Given the description of an element on the screen output the (x, y) to click on. 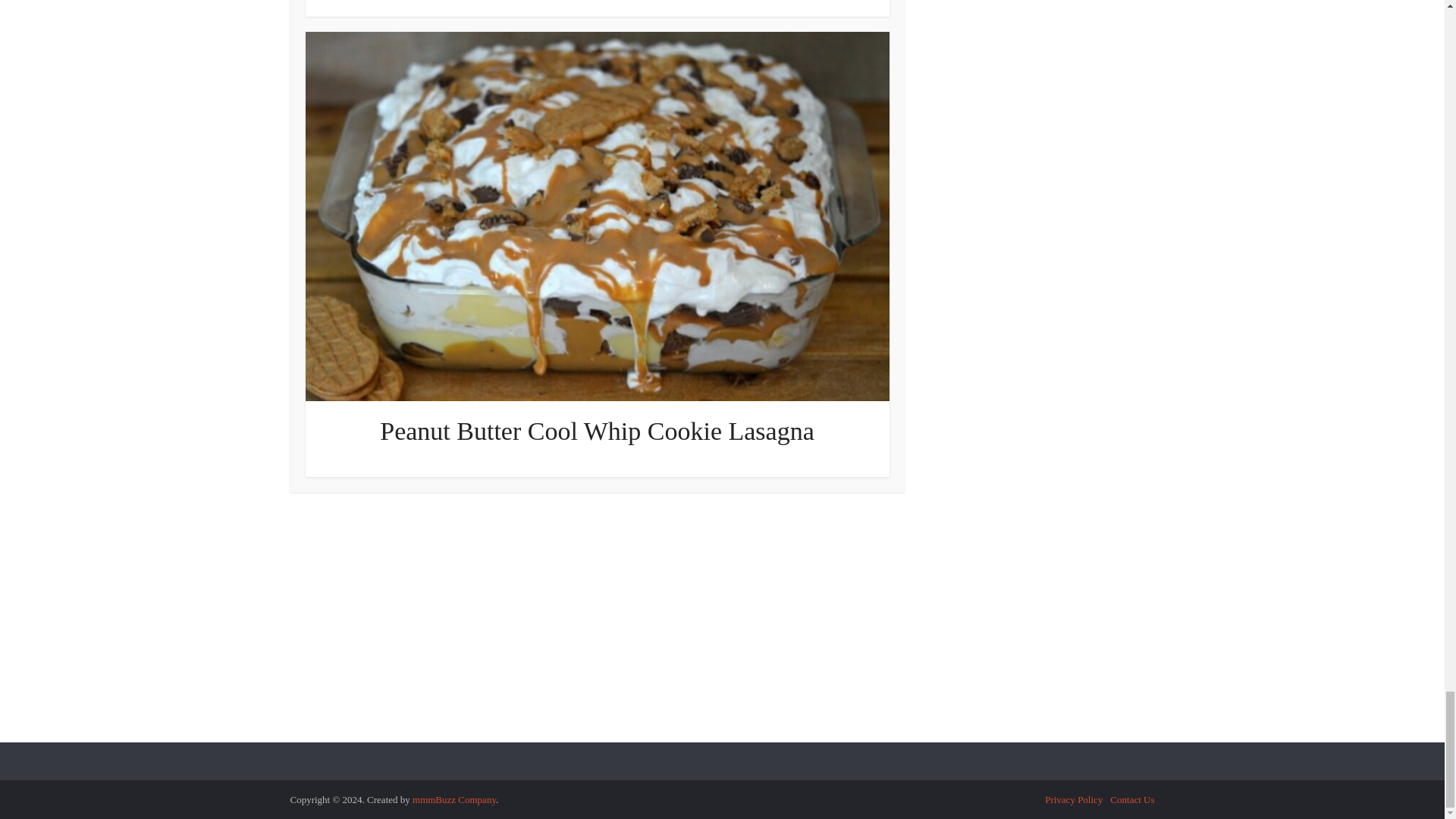
Privacy Policy (1073, 799)
Contact Us (1131, 799)
mmmBuzz Company (454, 799)
Peanut Butter Cool Whip Cookie Lasagna (596, 430)
